Given the description of an element on the screen output the (x, y) to click on. 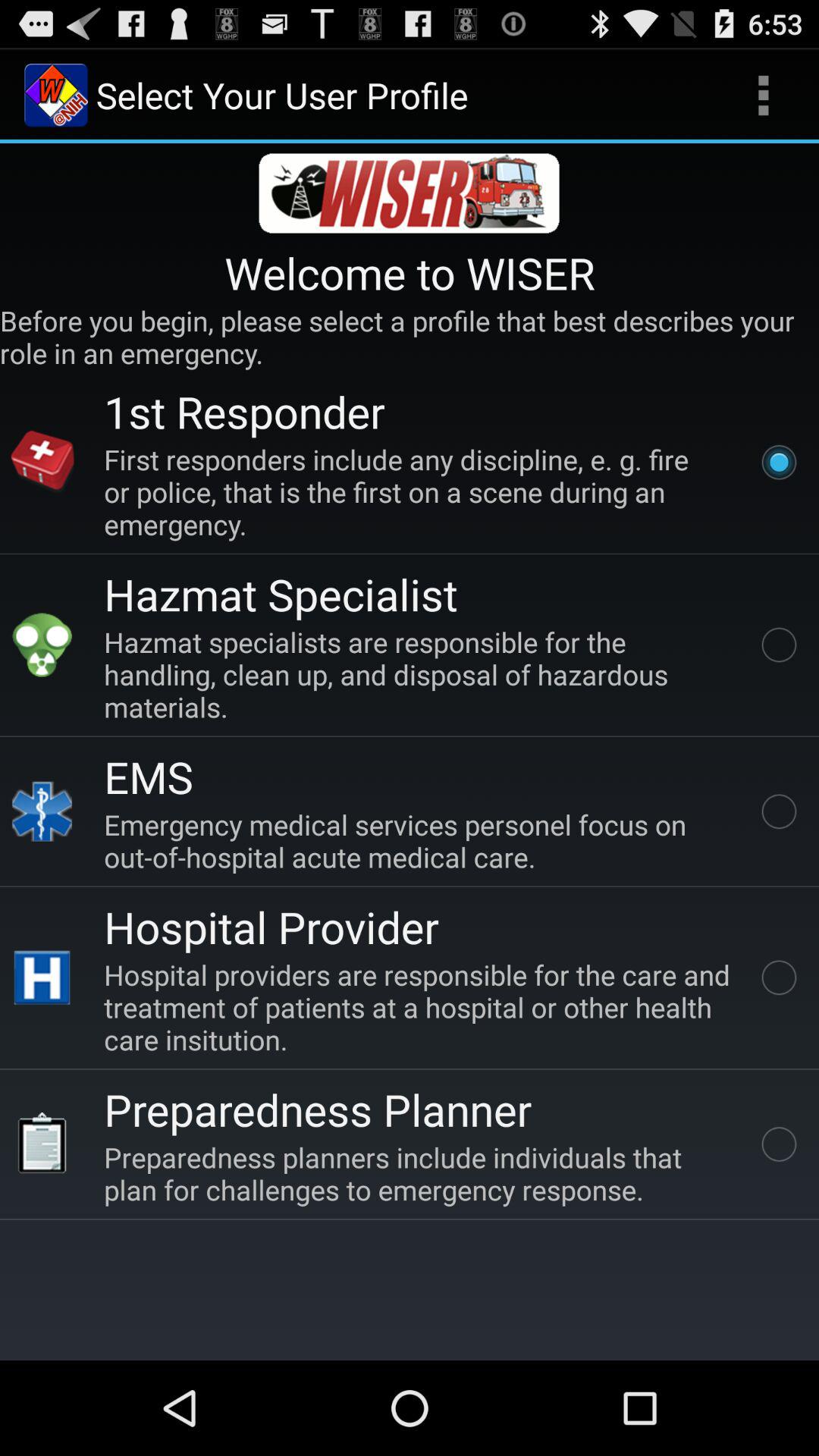
tap the app above ems app (420, 674)
